Given the description of an element on the screen output the (x, y) to click on. 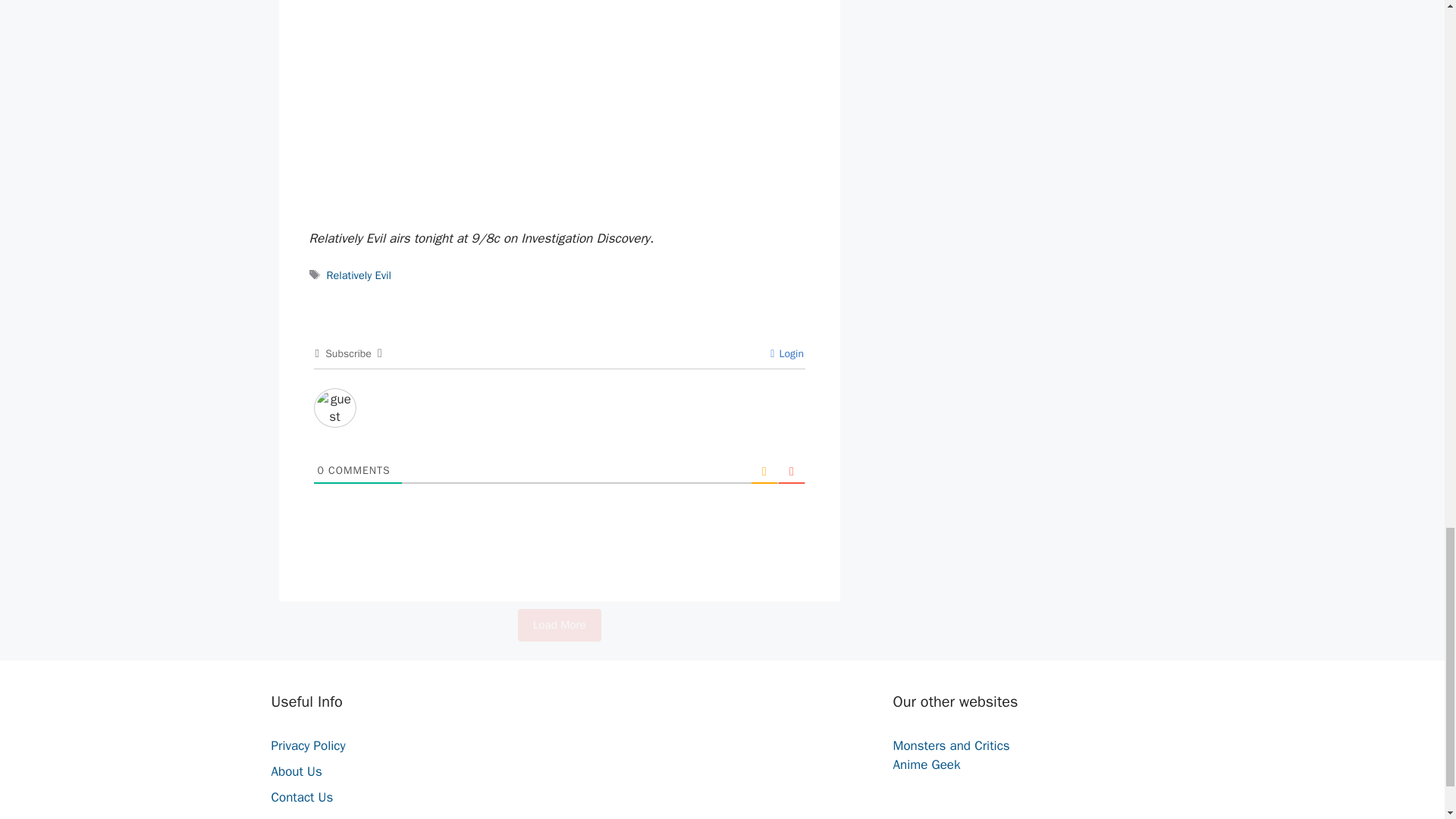
Relatively Evil (358, 274)
Login (786, 353)
